Given the description of an element on the screen output the (x, y) to click on. 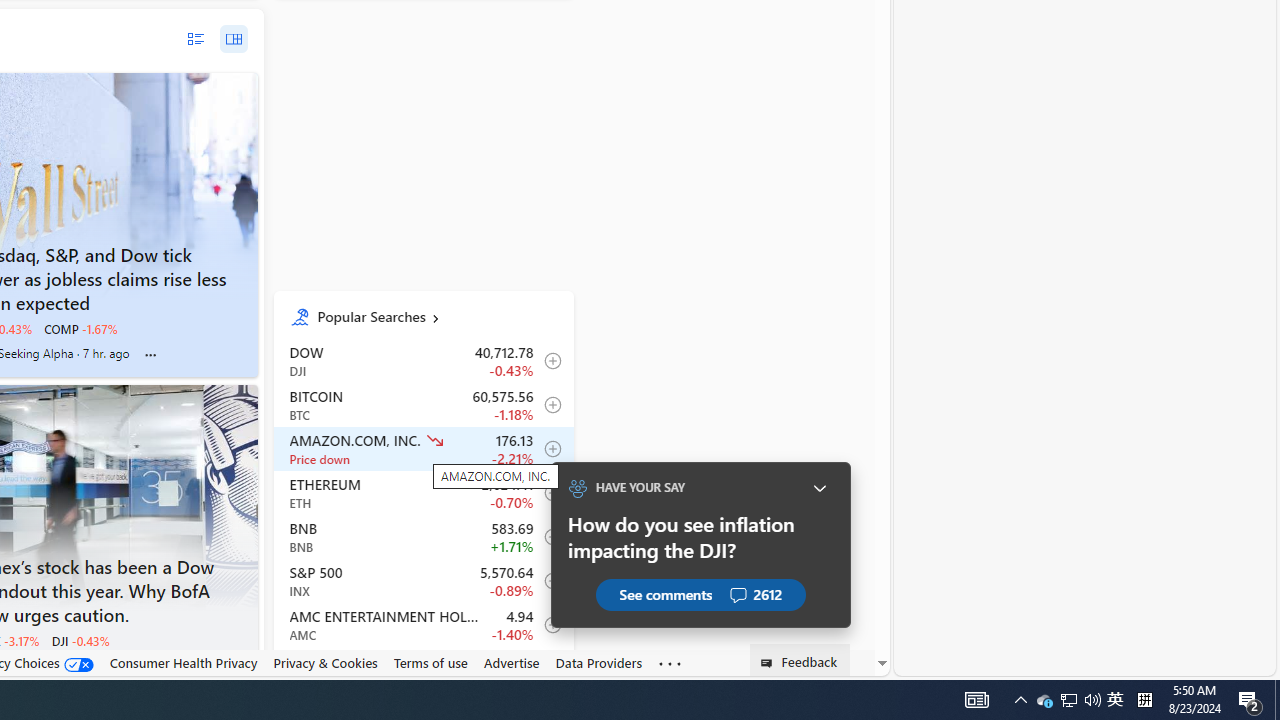
COMP -1.67% (80, 328)
Privacy & Cookies (324, 663)
Consumer Health Privacy (183, 662)
Consumer Health Privacy (183, 663)
Data Providers (598, 663)
Data Providers (598, 662)
BTC Bitcoin decrease 60,575.56 -716.61 -1.18% itemundefined (422, 404)
Class: feedback_link_icon-DS-EntryPoint1-1 (770, 663)
ADA Cardano increase 0.37 +0.00 +1.20% itemundefined (422, 669)
Add to Watchlist (547, 668)
